Given the description of an element on the screen output the (x, y) to click on. 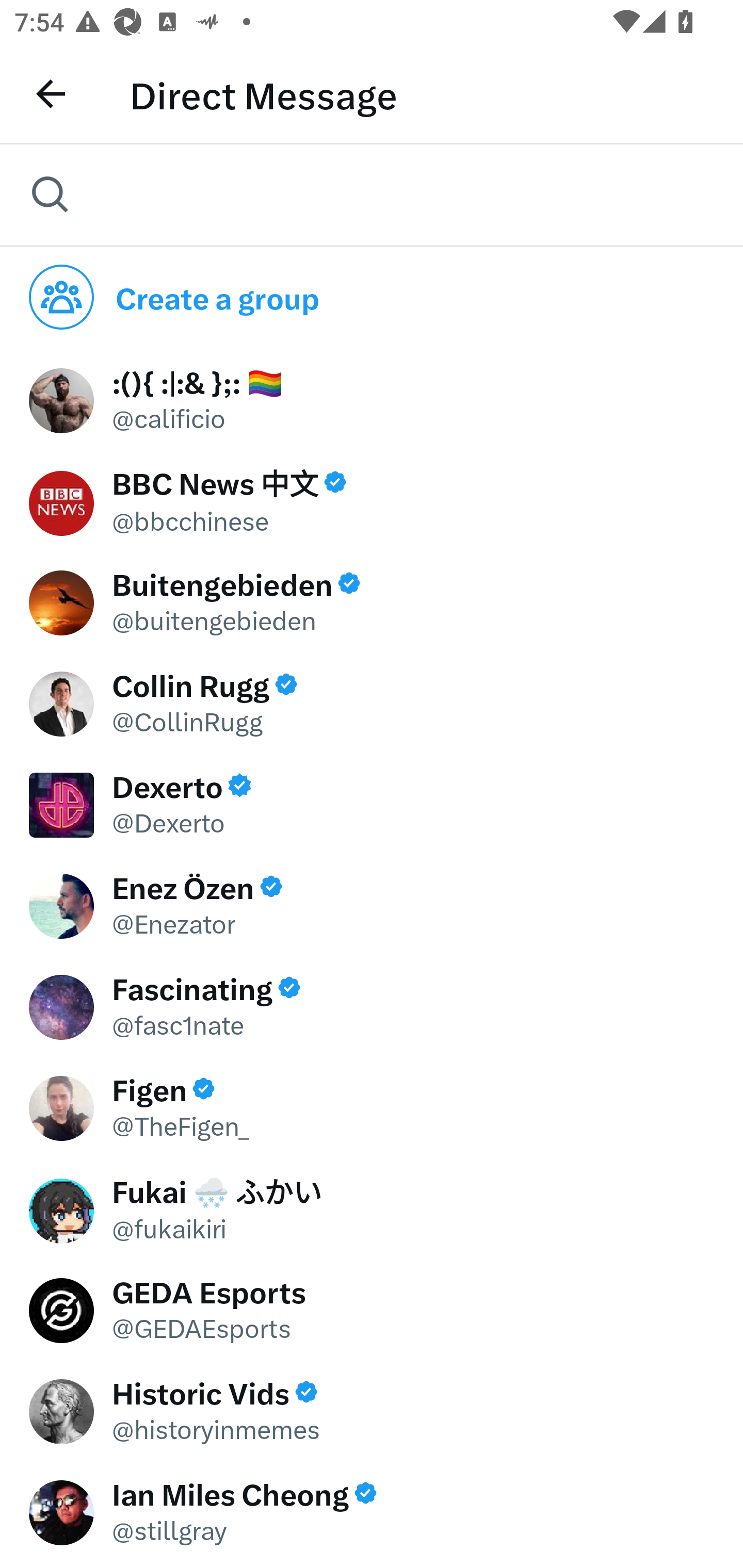
Navigate up (46, 93)
Create a group (371, 297)
Profile image for Figen Figen Verified @TheFigen_ (371, 1106)
